Given the description of an element on the screen output the (x, y) to click on. 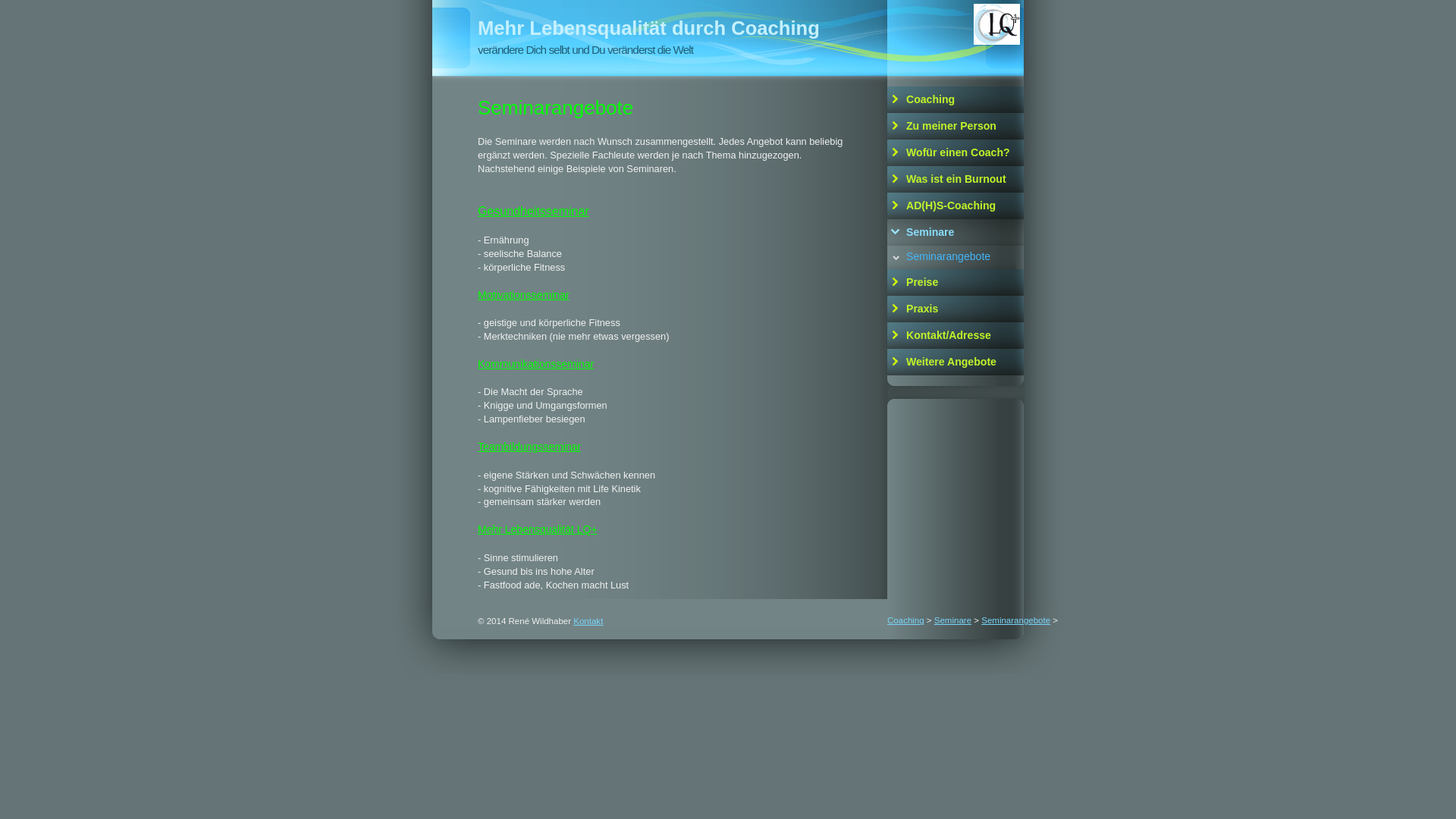
Coaching Element type: text (955, 99)
Kontakt/Adresse Element type: text (955, 335)
Weitere Angebote Element type: text (955, 361)
Seminarangebote Element type: text (955, 257)
Was ist ein Burnout Element type: text (955, 179)
Seminare Element type: text (955, 232)
AD(H)S-Coaching Element type: text (955, 205)
Coaching Element type: text (905, 619)
Kontakt Element type: text (587, 620)
Praxis Element type: text (955, 308)
Seminare Element type: text (952, 619)
Seminarangebote Element type: text (1015, 619)
Preise Element type: text (955, 282)
Zu meiner Person Element type: text (955, 125)
